Given the description of an element on the screen output the (x, y) to click on. 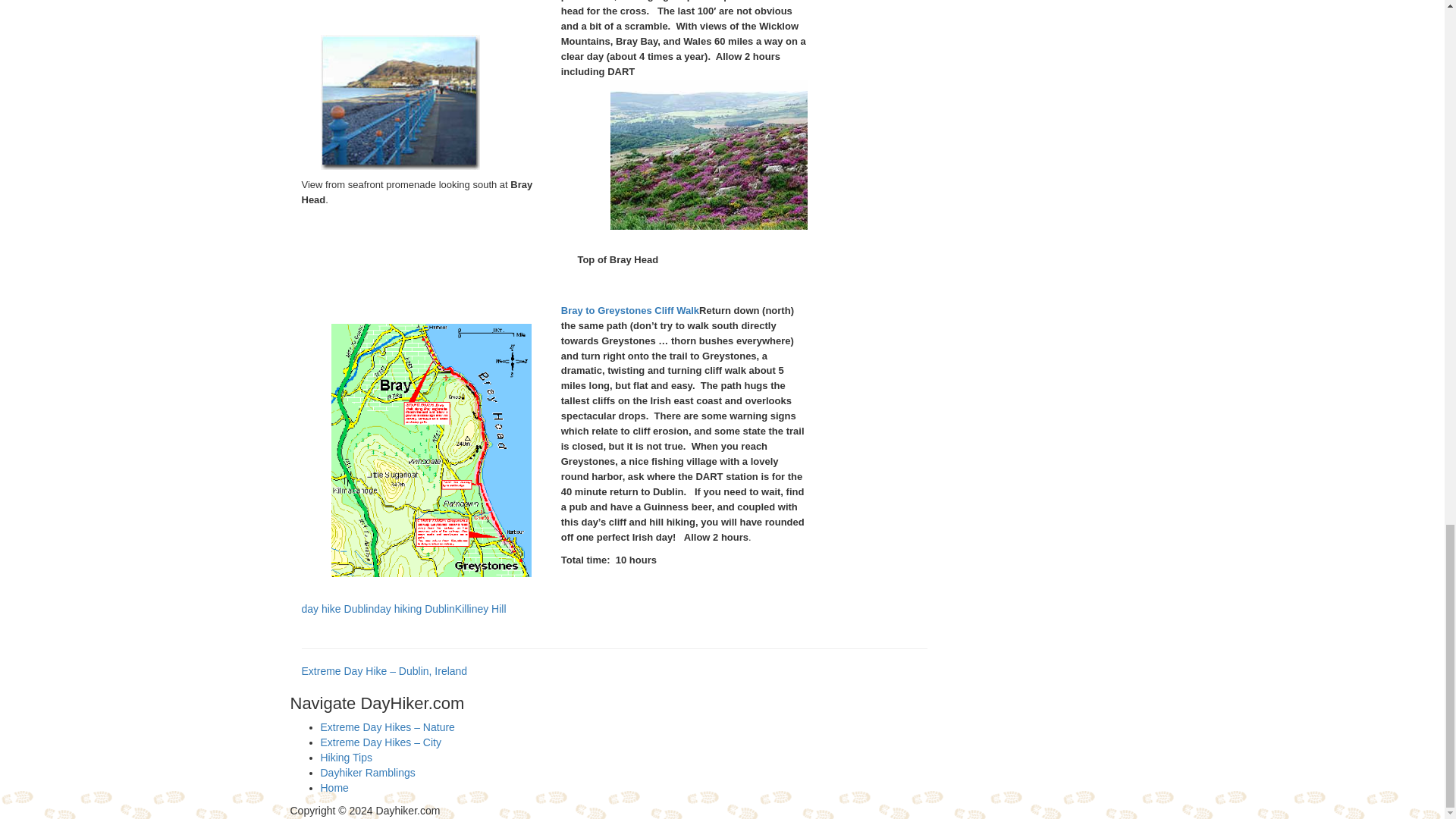
Dayhiker Ramblings (367, 772)
Hiking Tips (345, 757)
day hike Dublin (337, 608)
Advertisement (478, 622)
Killiney Hill (480, 608)
Home (333, 787)
day hiking Dublin (414, 608)
Bray to Greystones Cliff Walk (629, 310)
